Given the description of an element on the screen output the (x, y) to click on. 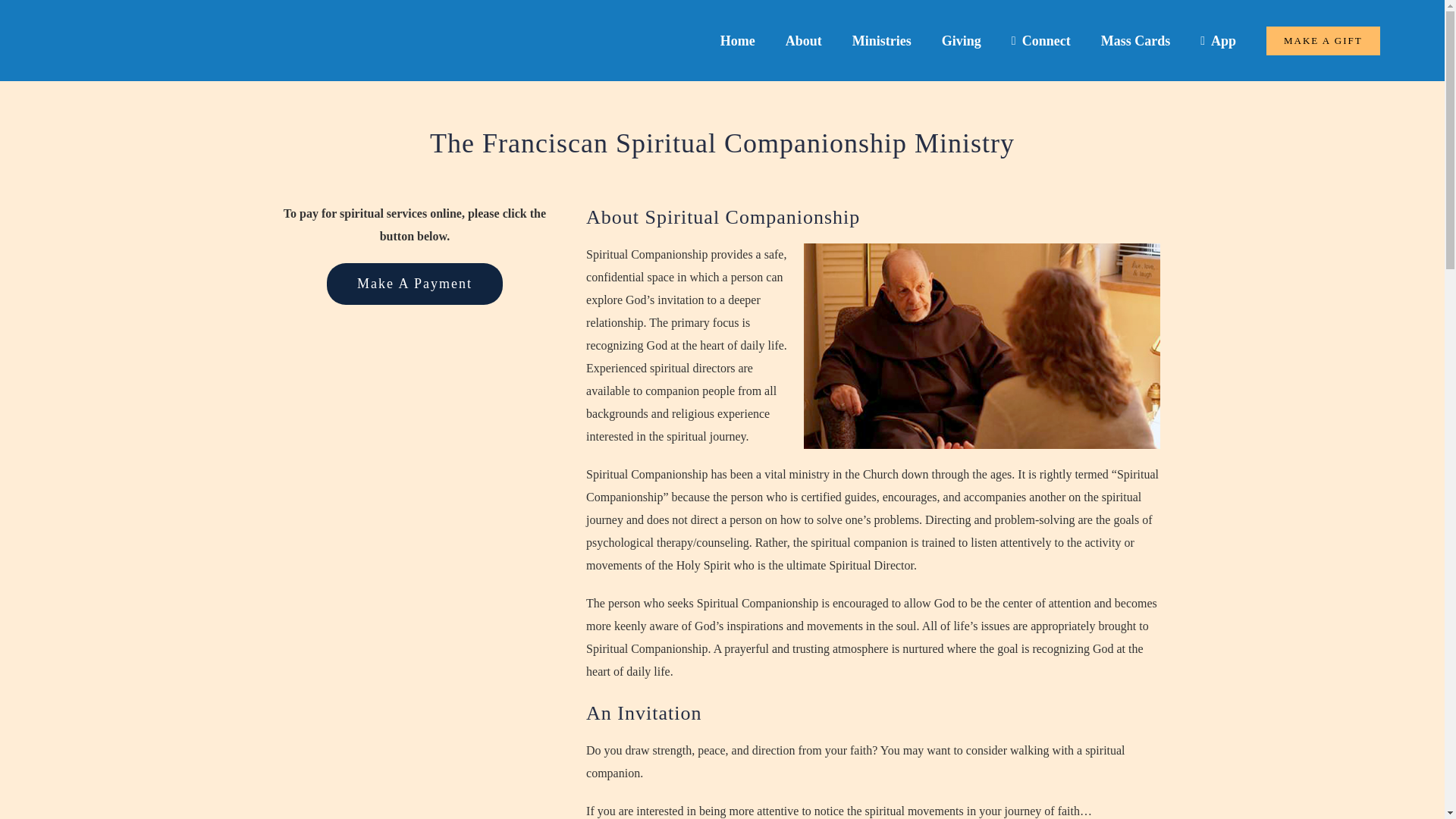
MAKE A GIFT (1323, 40)
The Franciscan Spiritual Companionship Ministry (722, 162)
Make A Payment (414, 283)
Franciscan Spiritual Companionship 1 (981, 345)
